Given the description of an element on the screen output the (x, y) to click on. 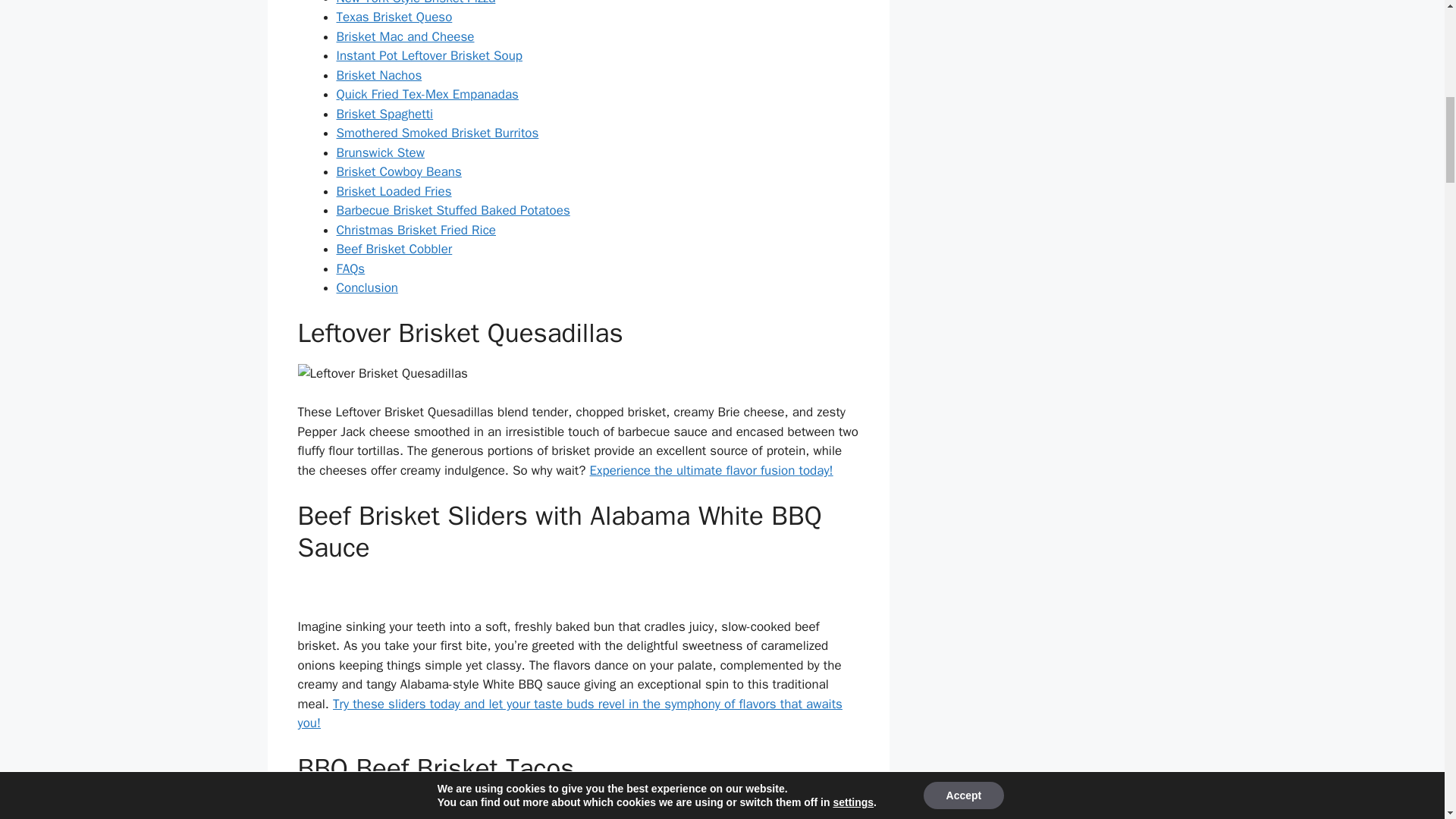
Brisket Cowboy Beans (398, 171)
Brisket Spaghetti (384, 114)
Quick Fried Tex-Mex Empanadas (427, 94)
Brisket Loaded Fries (393, 191)
New York Style Brisket Pizza (416, 2)
Instant Pot Leftover Brisket Soup (429, 55)
Smothered Smoked Brisket Burritos (437, 132)
Christmas Brisket Fried Rice (416, 229)
Barbecue Brisket Stuffed Baked Potatoes (453, 210)
Experience the ultimate flavor fusion today! (710, 470)
